Given the description of an element on the screen output the (x, y) to click on. 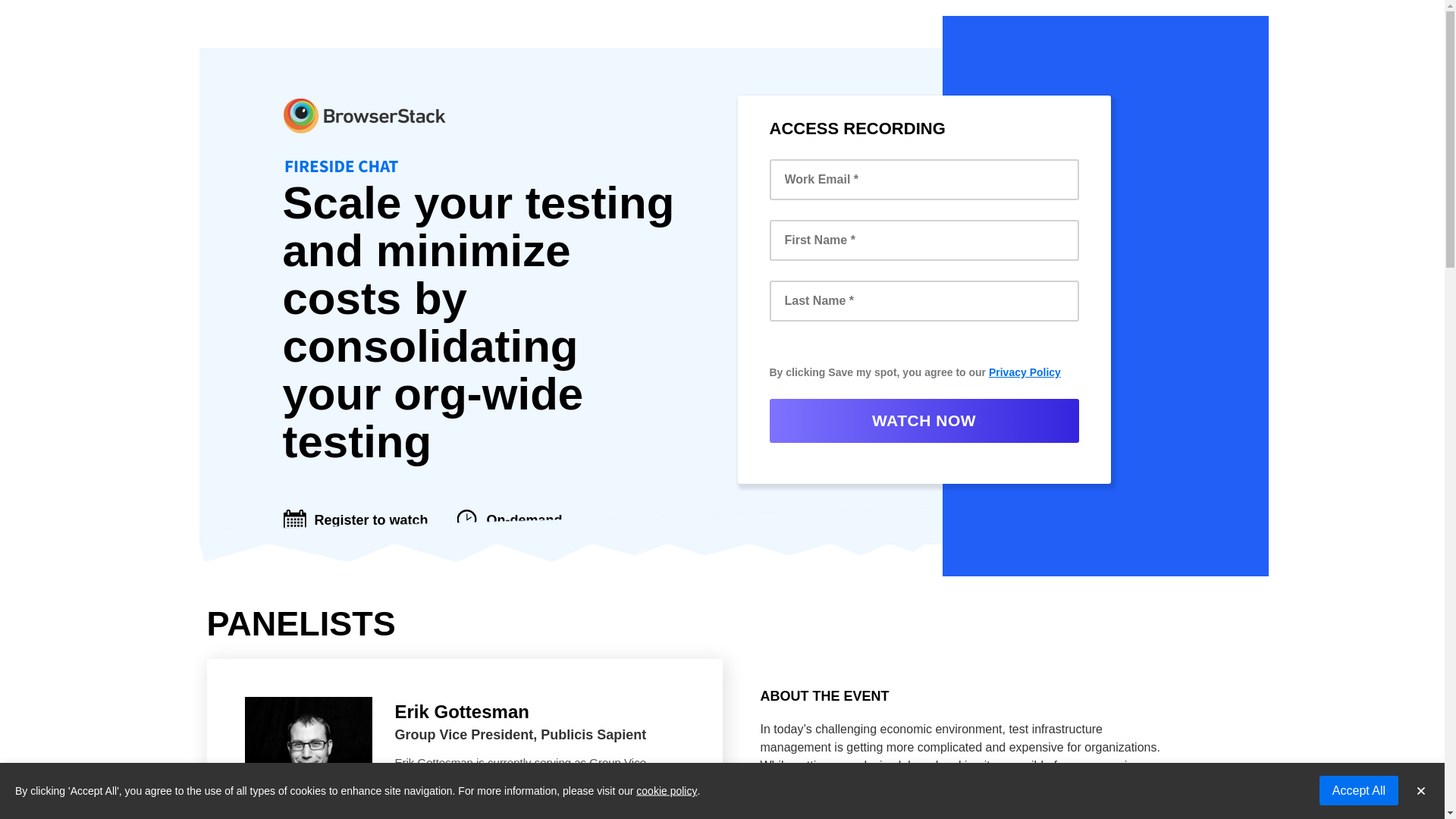
WATCH NOW (923, 420)
cookie policy (666, 790)
calendar (293, 519)
WATCH NOW (923, 420)
Clock (466, 519)
Accept All (1358, 790)
BrowserStack Fireside Chat (363, 135)
BrowserStack (363, 170)
Privacy Policy (1024, 372)
